Given the description of an element on the screen output the (x, y) to click on. 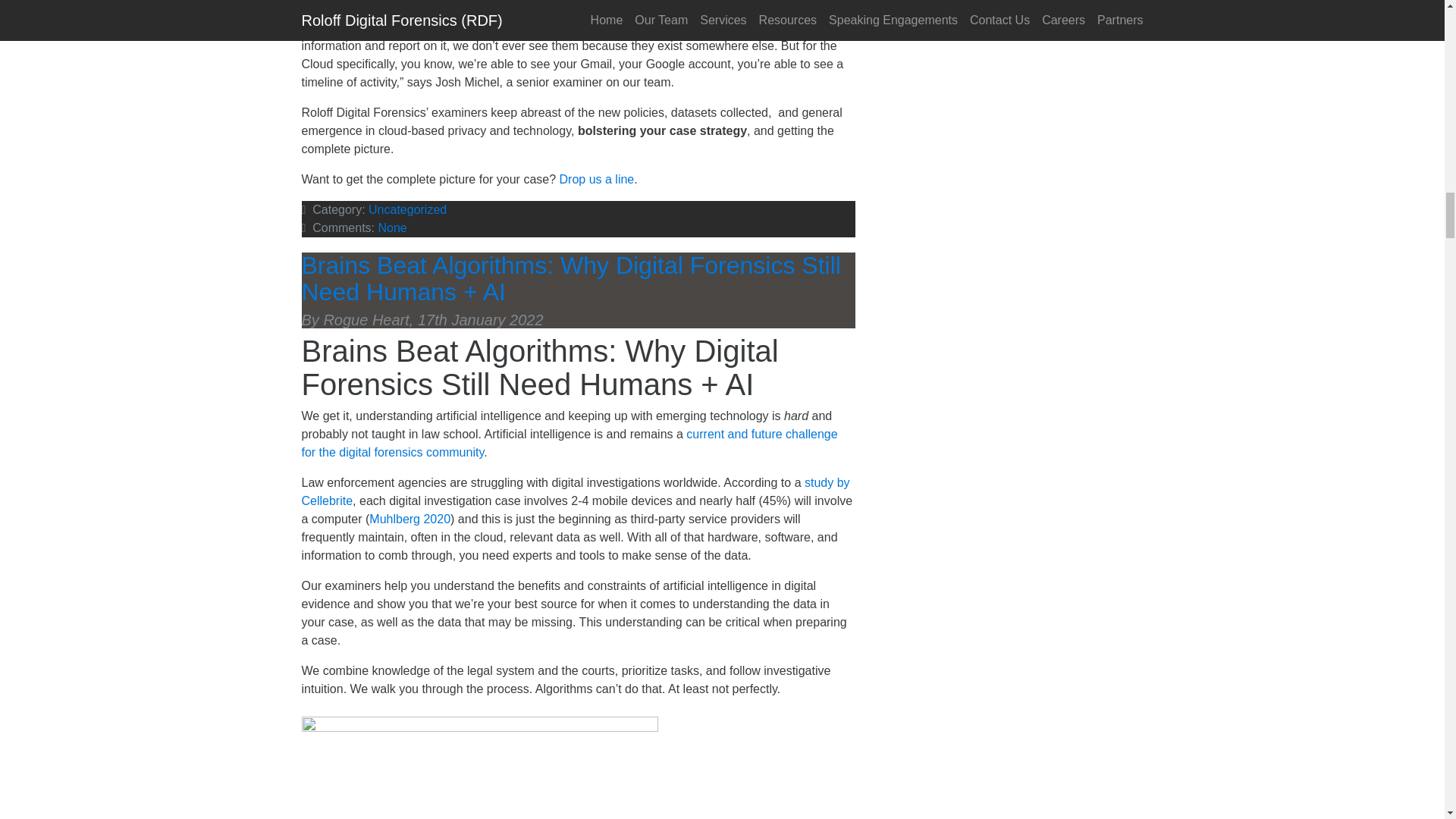
Drop us a line (596, 178)
None (391, 227)
Muhlberg 2020 (409, 518)
Uncategorized (407, 209)
study by Cellebrite (575, 490)
